Given the description of an element on the screen output the (x, y) to click on. 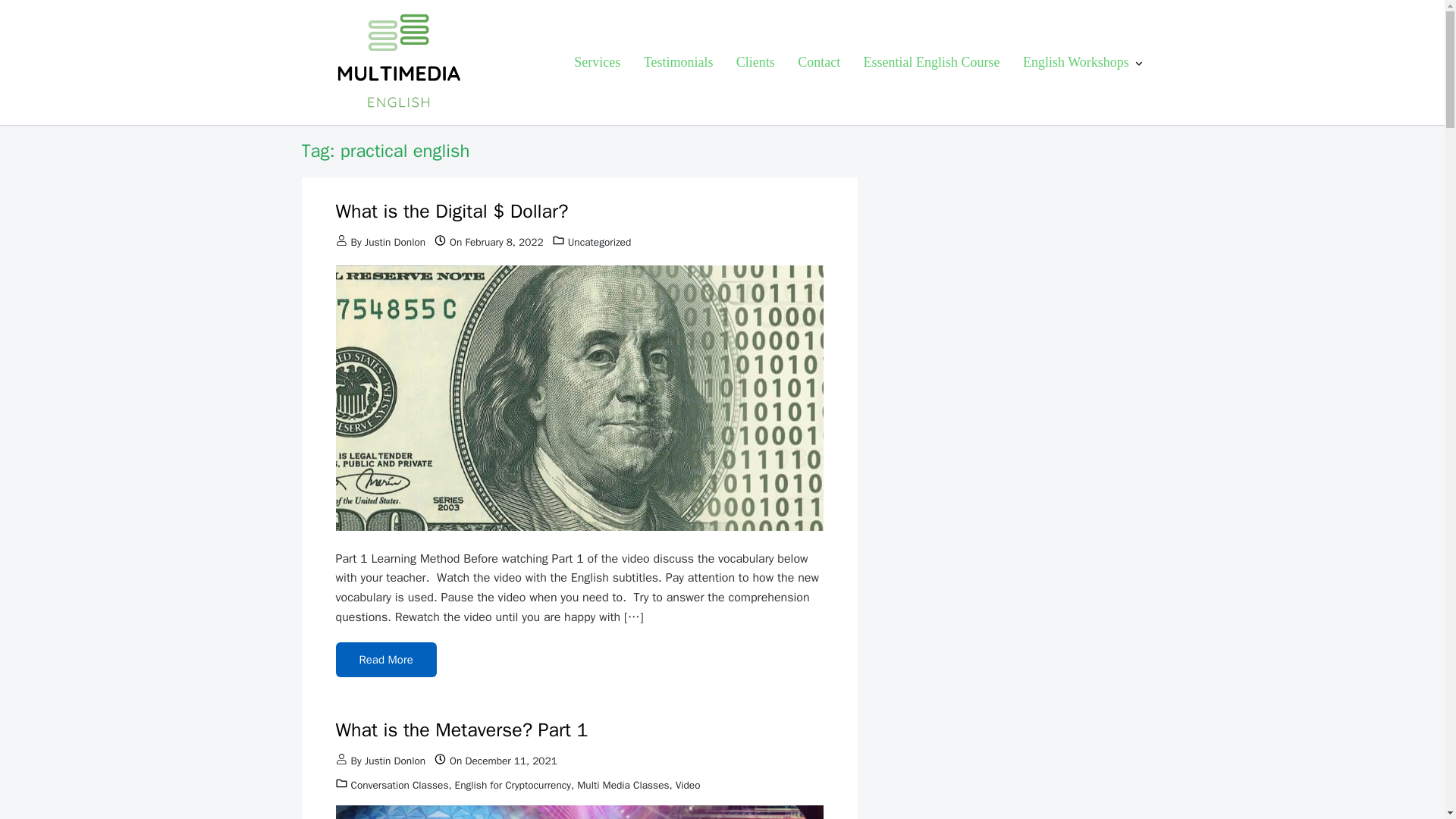
English for Cryptocurrency (512, 784)
Read More (384, 659)
Justin Donlon (395, 760)
Contact (818, 62)
Multimedia English (358, 129)
What is the Metaverse? Part 1 (461, 729)
Justin Donlon (395, 241)
Services (597, 62)
Testimonials (677, 62)
December 11, 2021 (510, 760)
Conversation Classes (399, 784)
Skip to content (54, 20)
English Workshops (1083, 62)
Essential English Course (931, 62)
Clients (755, 62)
